Given the description of an element on the screen output the (x, y) to click on. 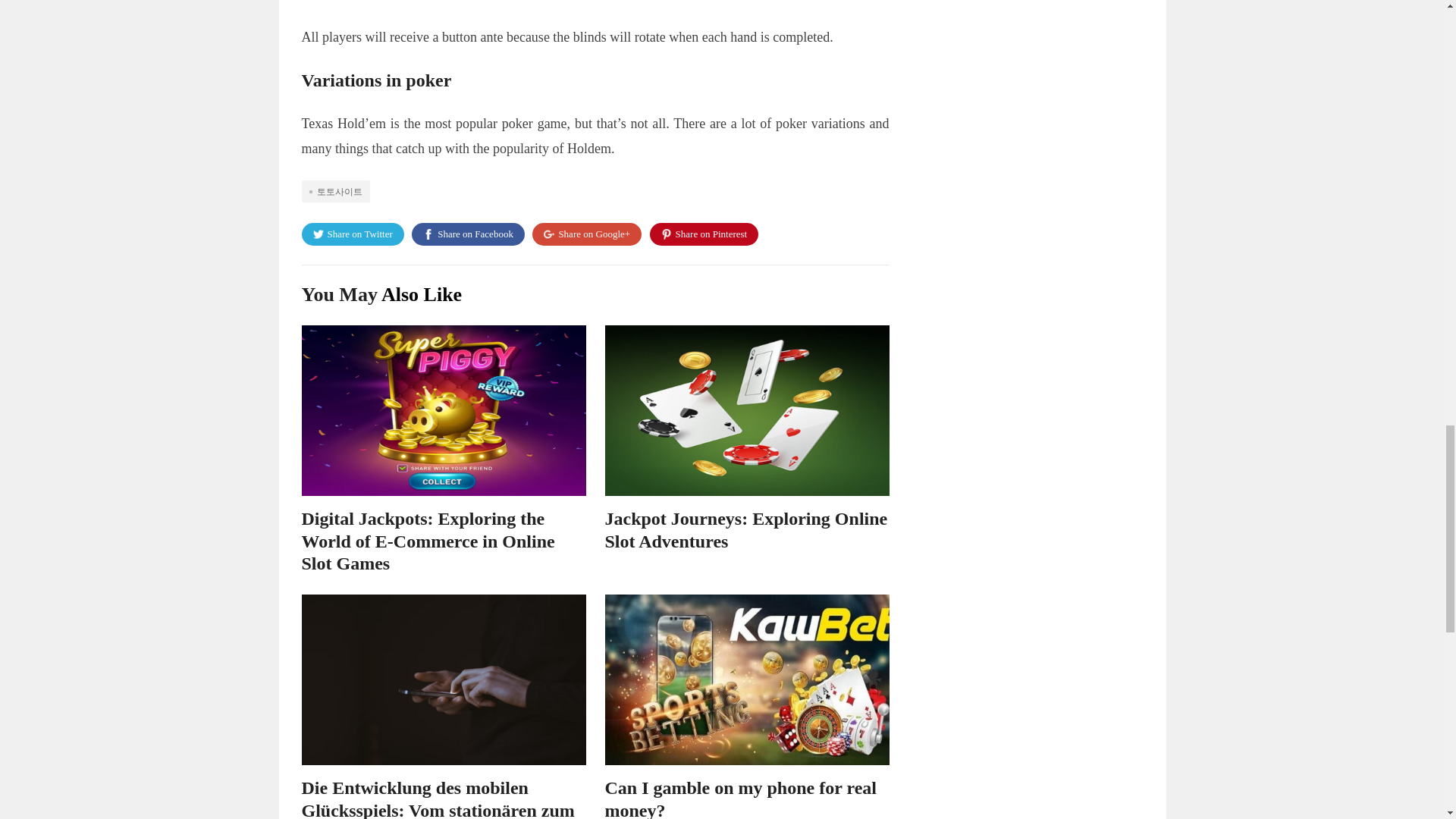
Can I gamble on my phone for real money? (740, 798)
Share on Pinterest (703, 233)
Jackpot Journeys: Exploring Online Slot Adventures (746, 529)
Share on Facebook (468, 233)
Share on Twitter (352, 233)
